Given the description of an element on the screen output the (x, y) to click on. 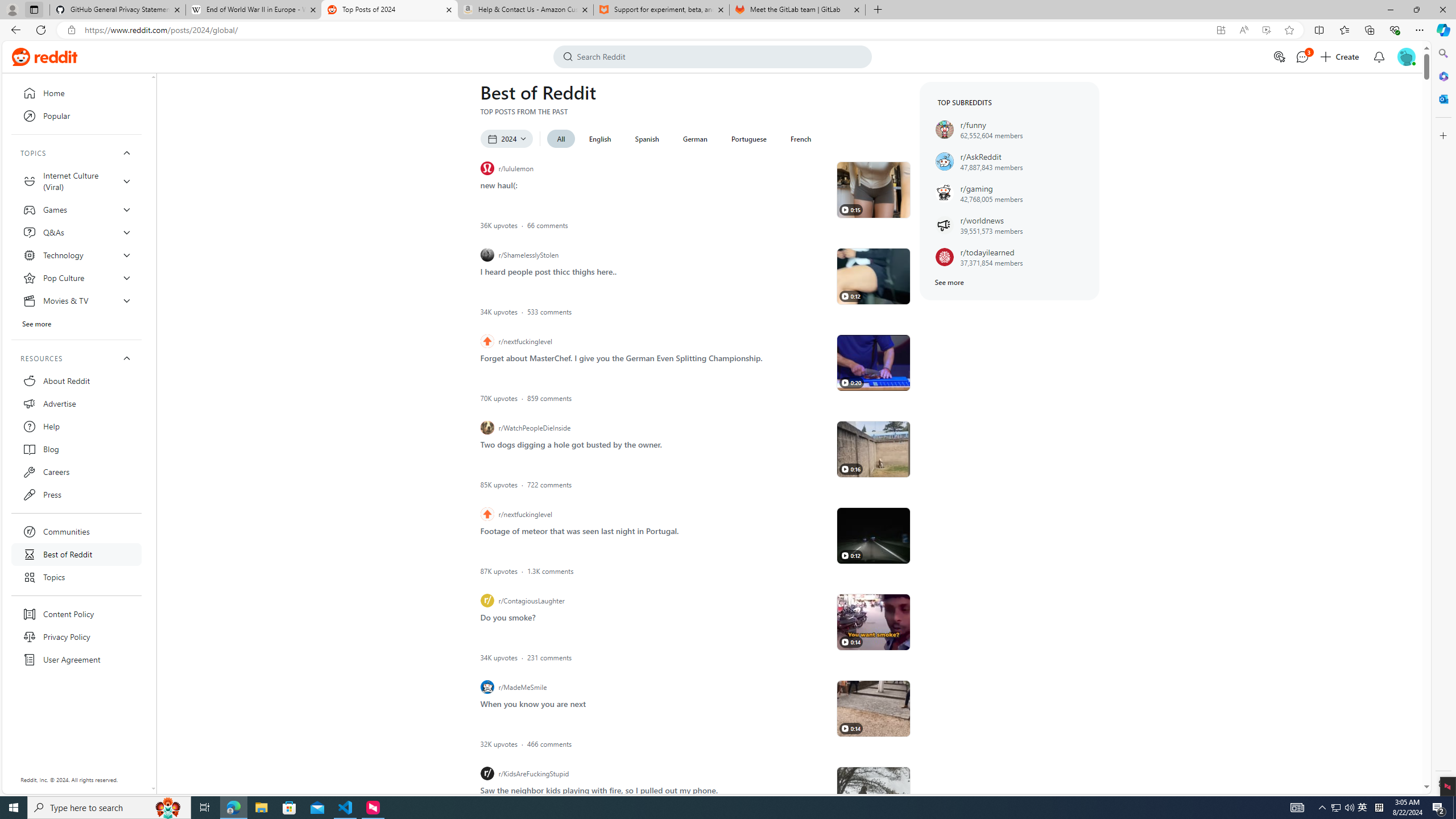
List item post - new haul(:  (498, 184)
English (600, 138)
r/MadeMeSmile - When you know you are next (873, 708)
List item post - I heard people post thicc thighs here..  (548, 270)
Meet the GitLab team | GitLab (797, 9)
